Given the description of an element on the screen output the (x, y) to click on. 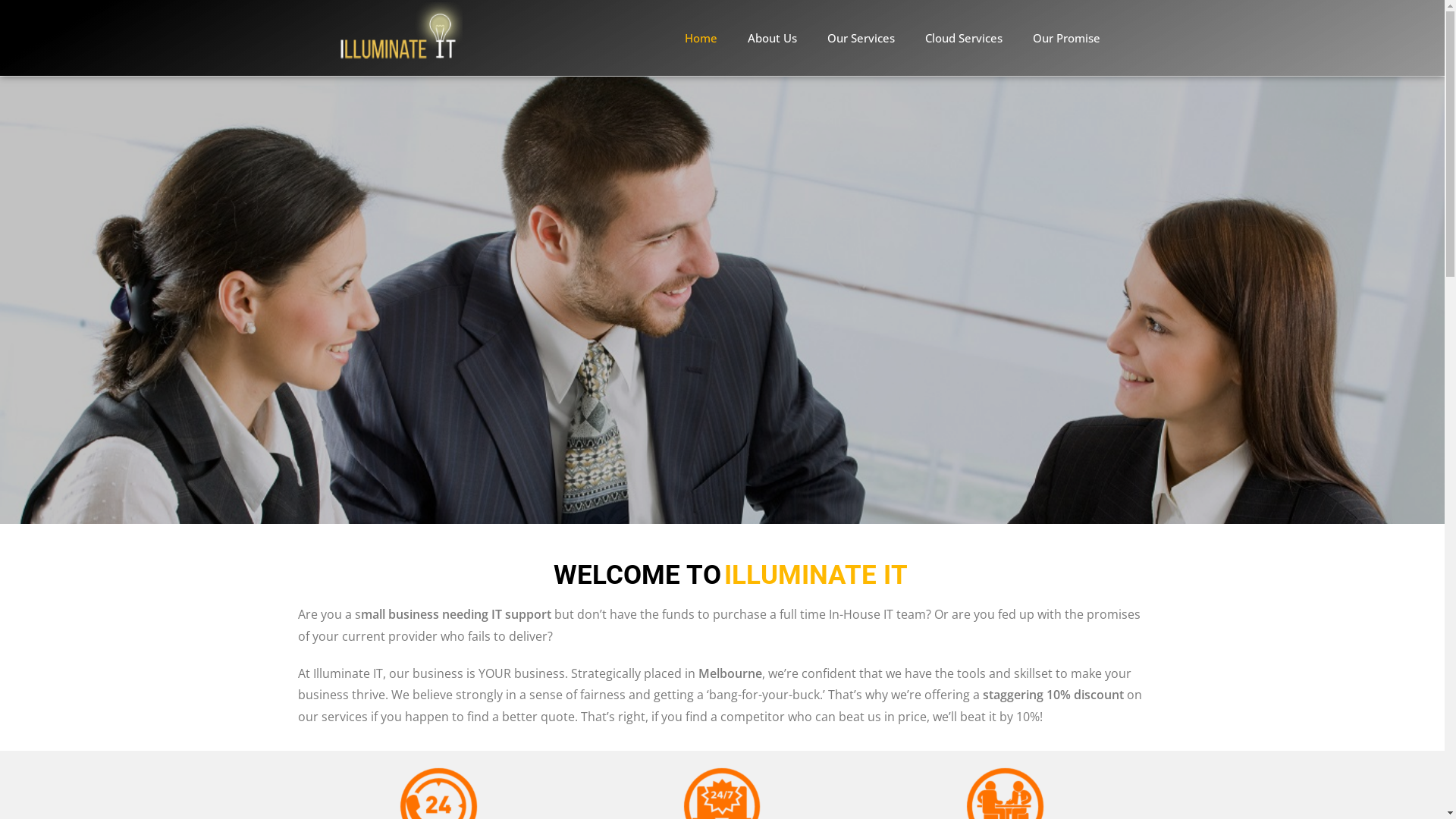
Our Services Element type: text (860, 37)
Cloud Services Element type: text (963, 37)
Home Element type: text (699, 37)
Our Promise Element type: text (1066, 37)
About Us Element type: text (772, 37)
